Given the description of an element on the screen output the (x, y) to click on. 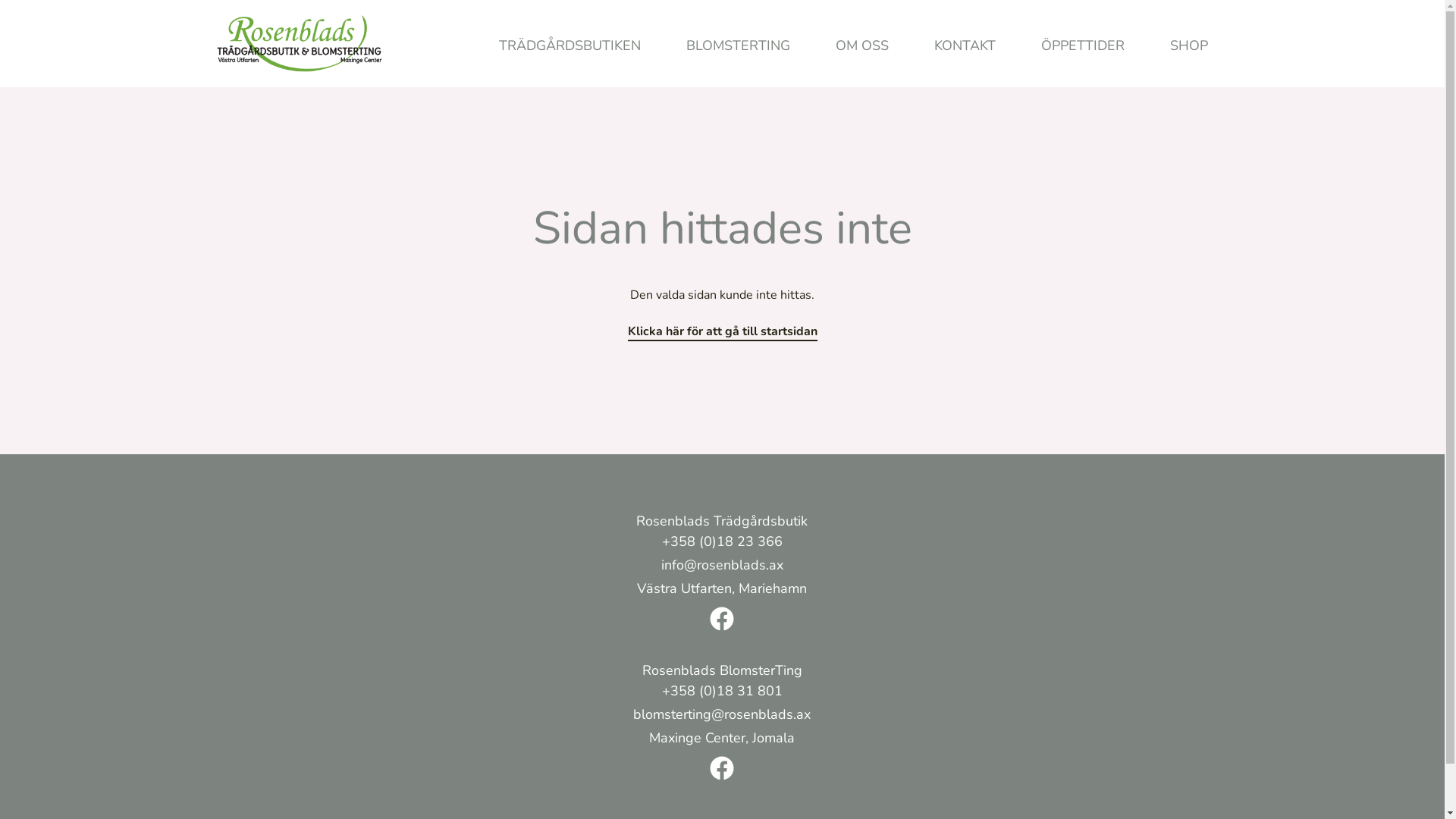
BLOMSTERTING Element type: text (737, 45)
blomsterting@rosenblads.ax Element type: text (721, 716)
OM OSS Element type: text (861, 45)
SHOP Element type: text (1188, 45)
KONTAKT Element type: text (964, 45)
+358 (0)18 23 366 Element type: text (722, 543)
info@rosenblads.ax Element type: text (722, 566)
+358 (0)18 31 801 Element type: text (722, 692)
